Given the description of an element on the screen output the (x, y) to click on. 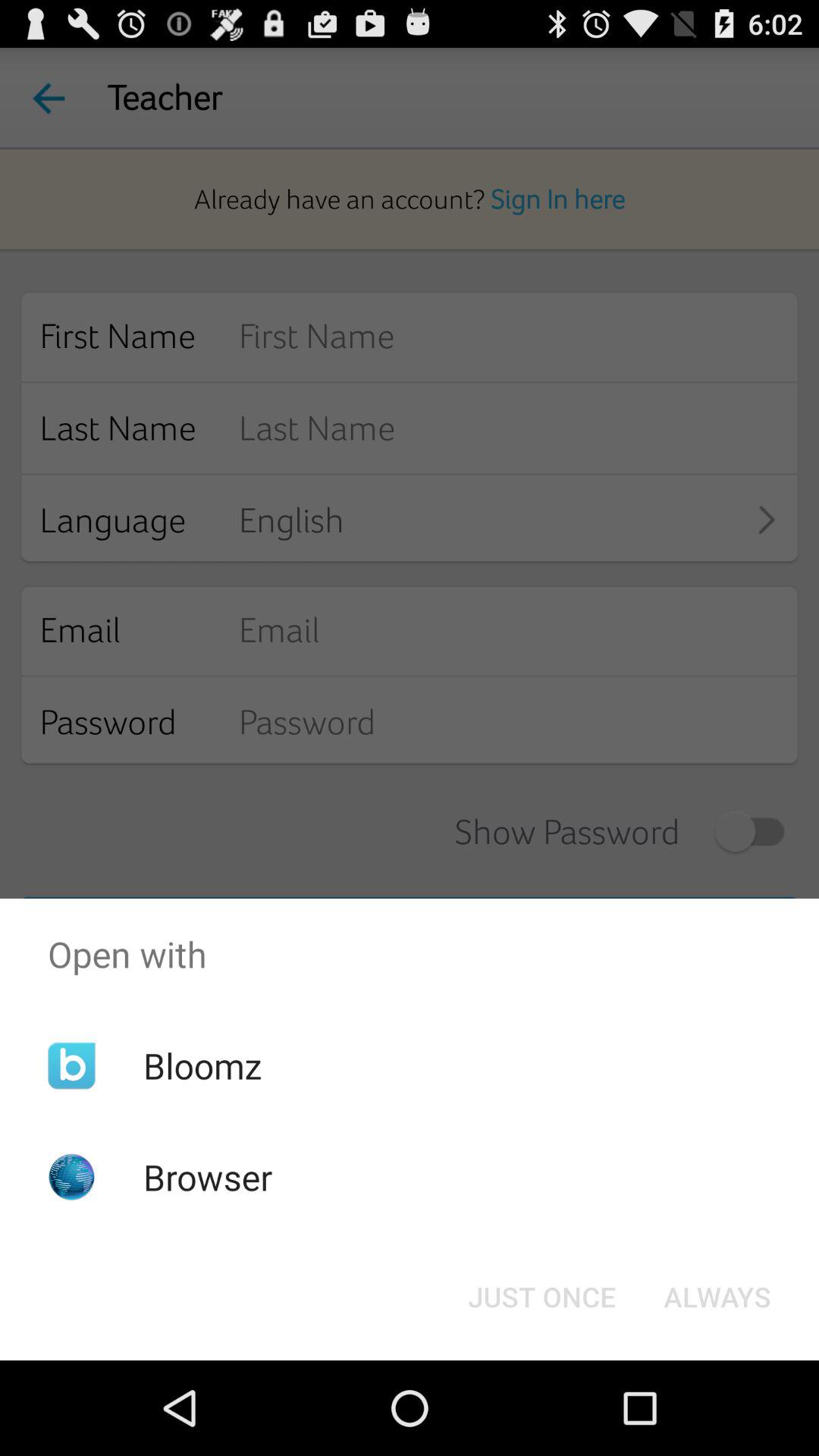
tap the just once icon (541, 1296)
